Given the description of an element on the screen output the (x, y) to click on. 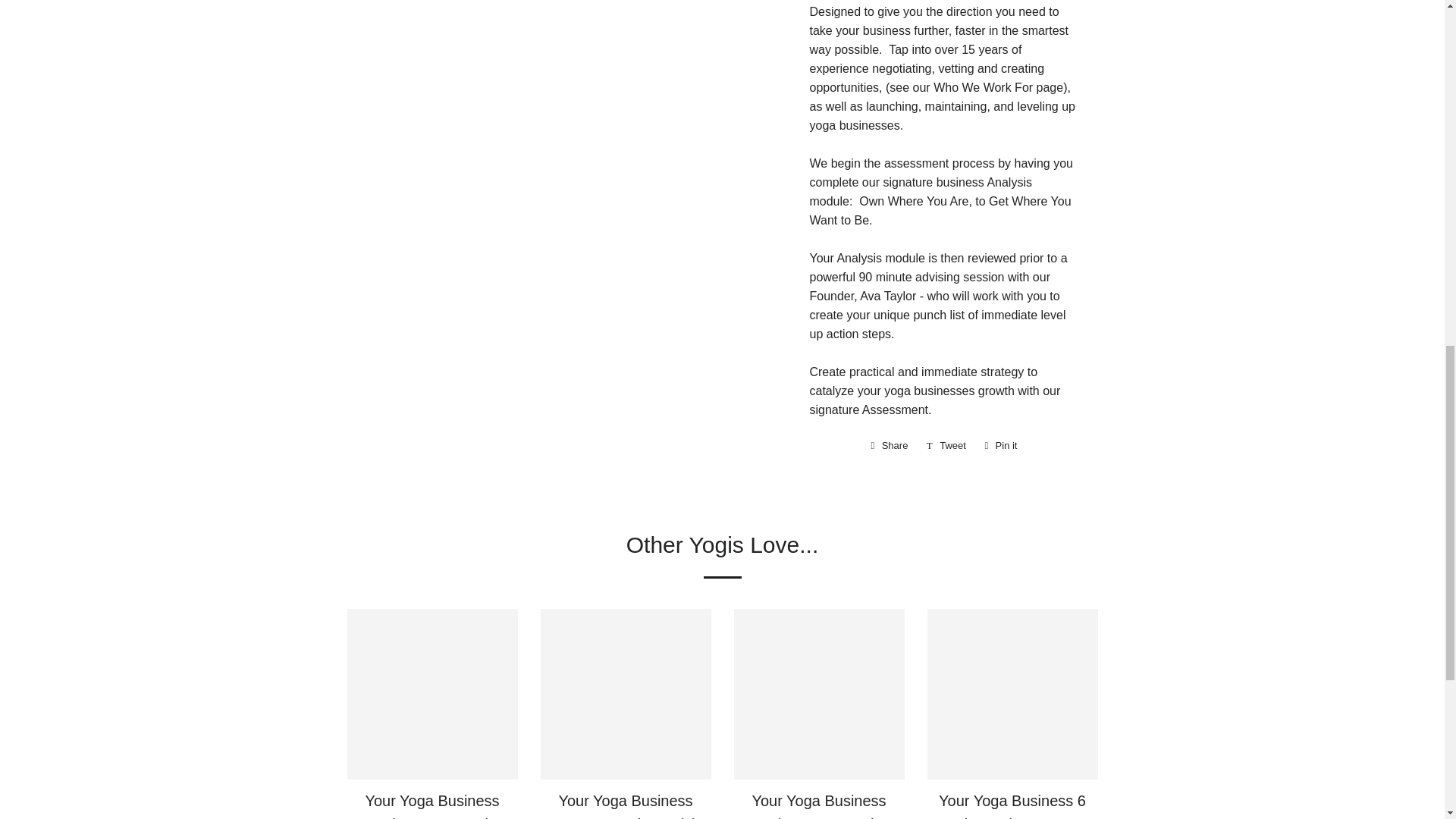
Pin on Pinterest (1000, 445)
Share on Facebook (889, 445)
Tweet on Twitter (946, 445)
